Given the description of an element on the screen output the (x, y) to click on. 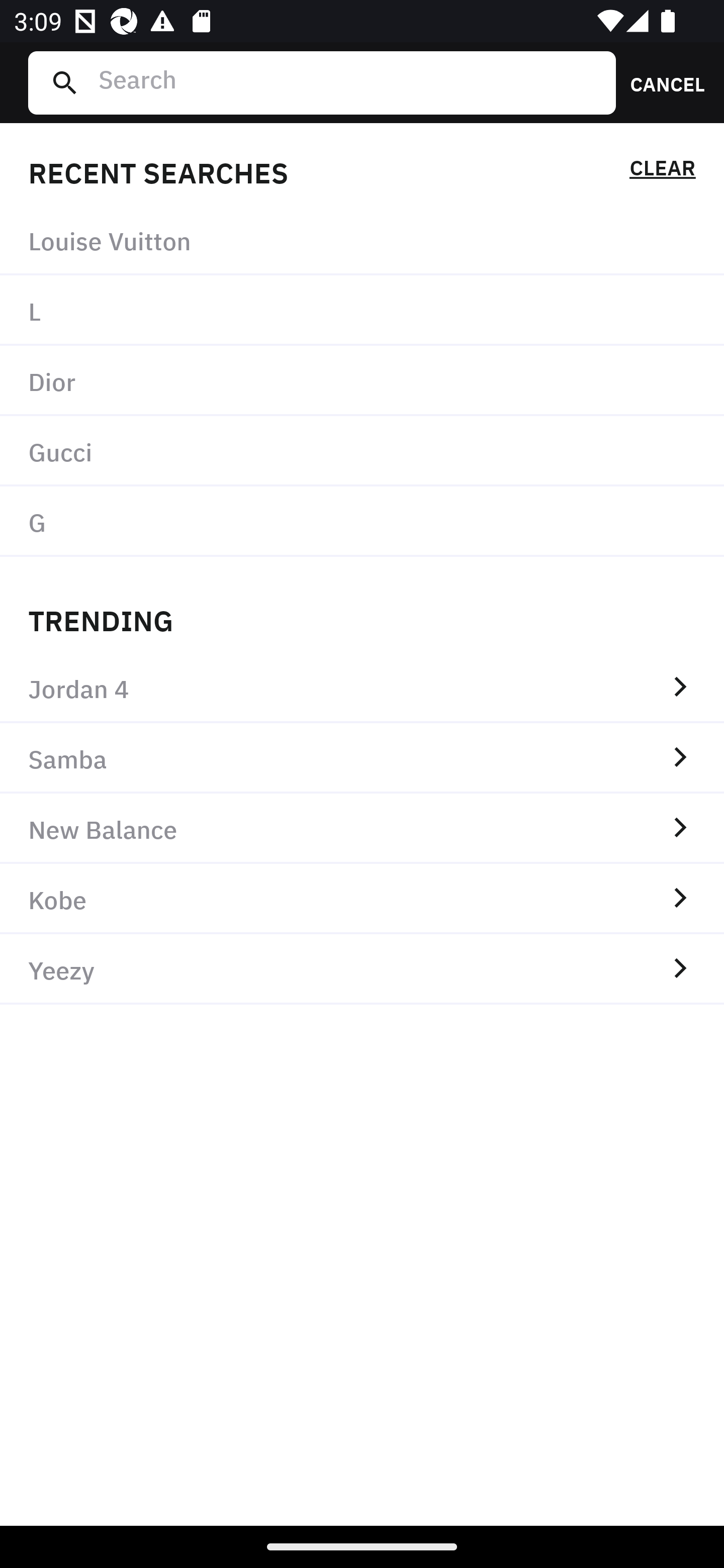
CANCEL (660, 82)
Search (349, 82)
CLEAR (662, 170)
Louise Vuitton (362, 240)
L (362, 310)
Dior (362, 380)
Gucci (362, 450)
G (362, 521)
Jordan 4  (362, 687)
Samba  (362, 757)
New Balance  (362, 828)
Kobe  (362, 898)
Yeezy  (362, 969)
